Given the description of an element on the screen output the (x, y) to click on. 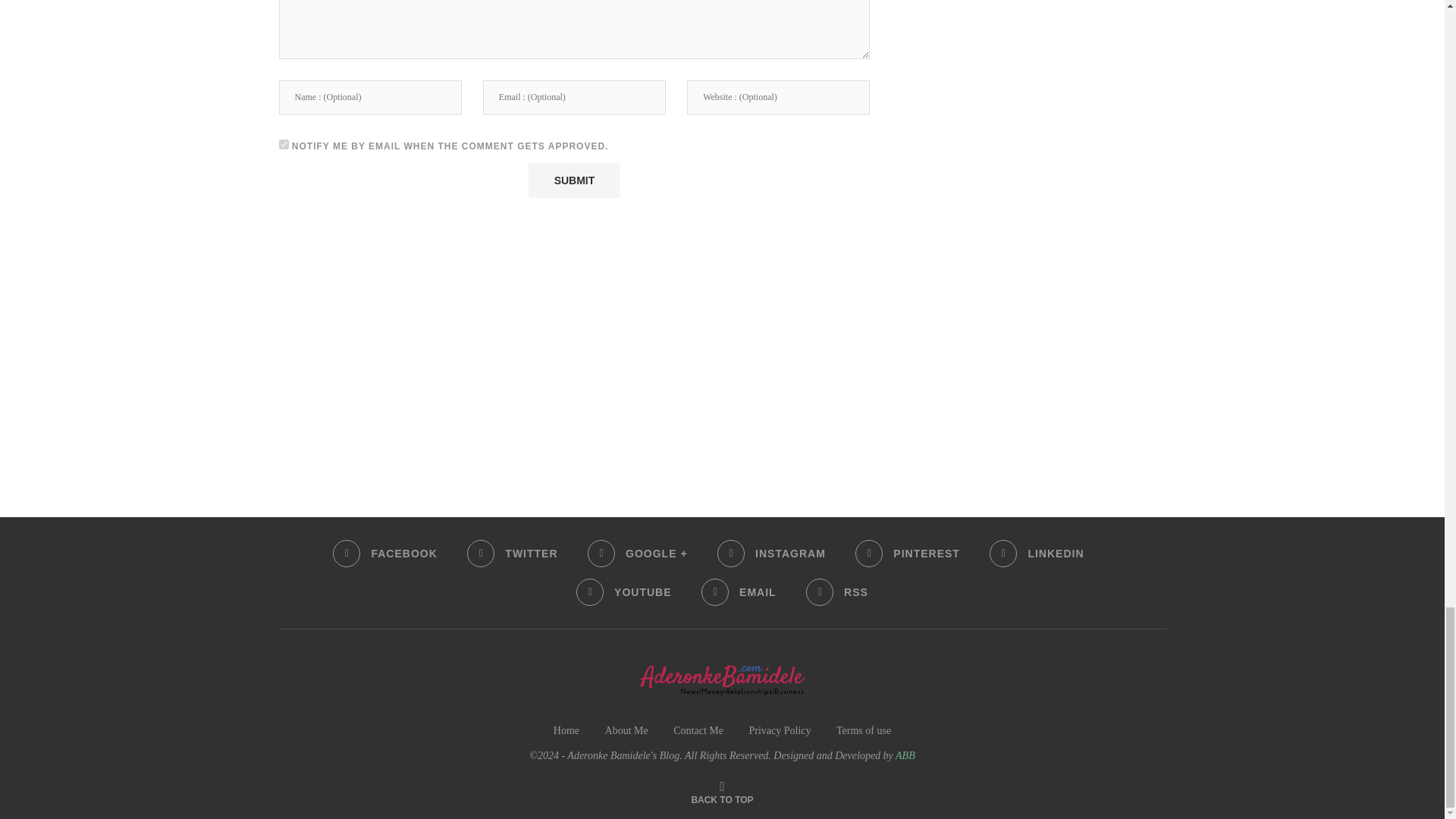
Submit (574, 180)
1 (283, 144)
